Given the description of an element on the screen output the (x, y) to click on. 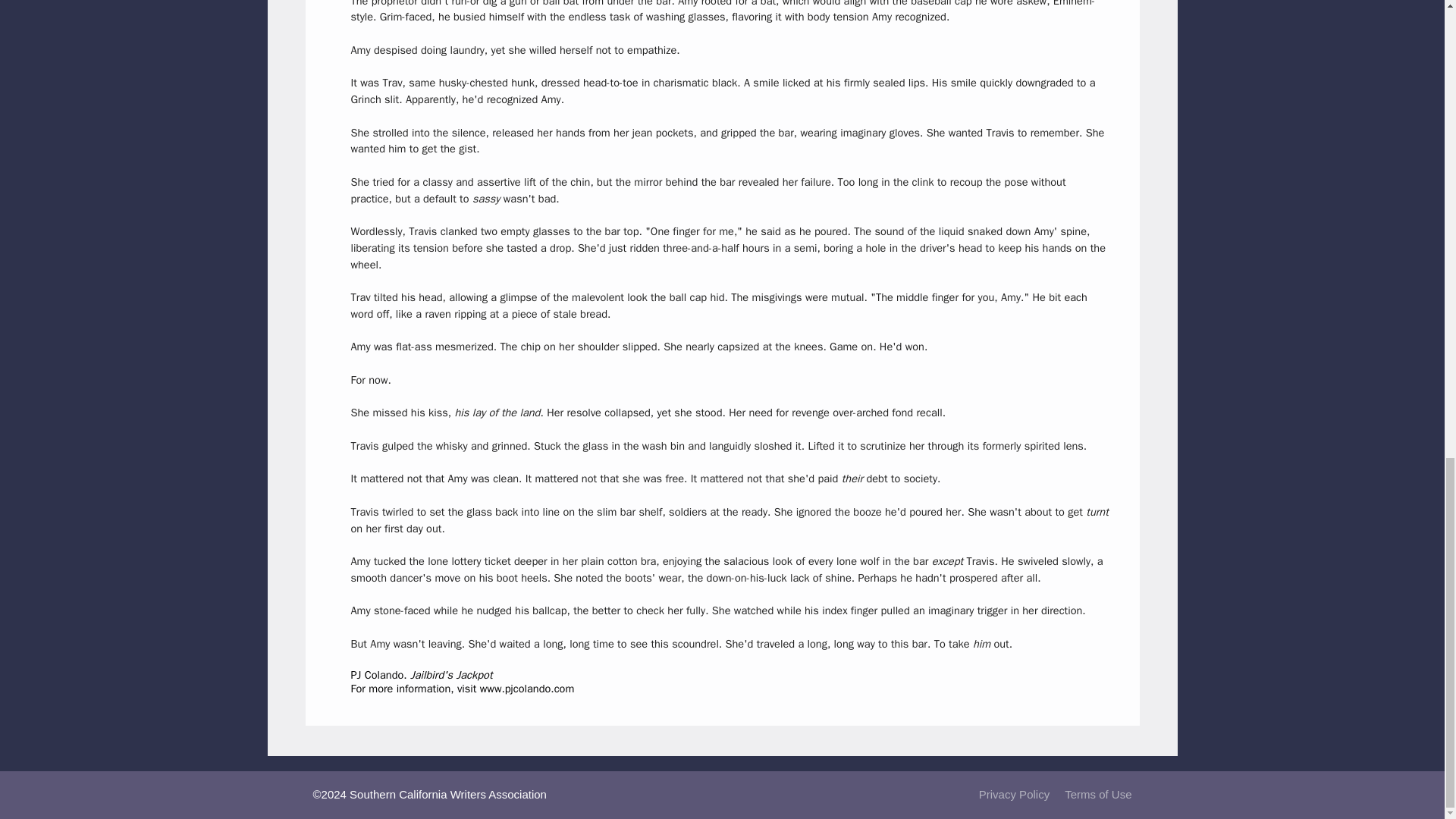
www.pjcolando.com (527, 688)
Terms of Use (1097, 793)
Privacy Policy (1013, 793)
